Given the description of an element on the screen output the (x, y) to click on. 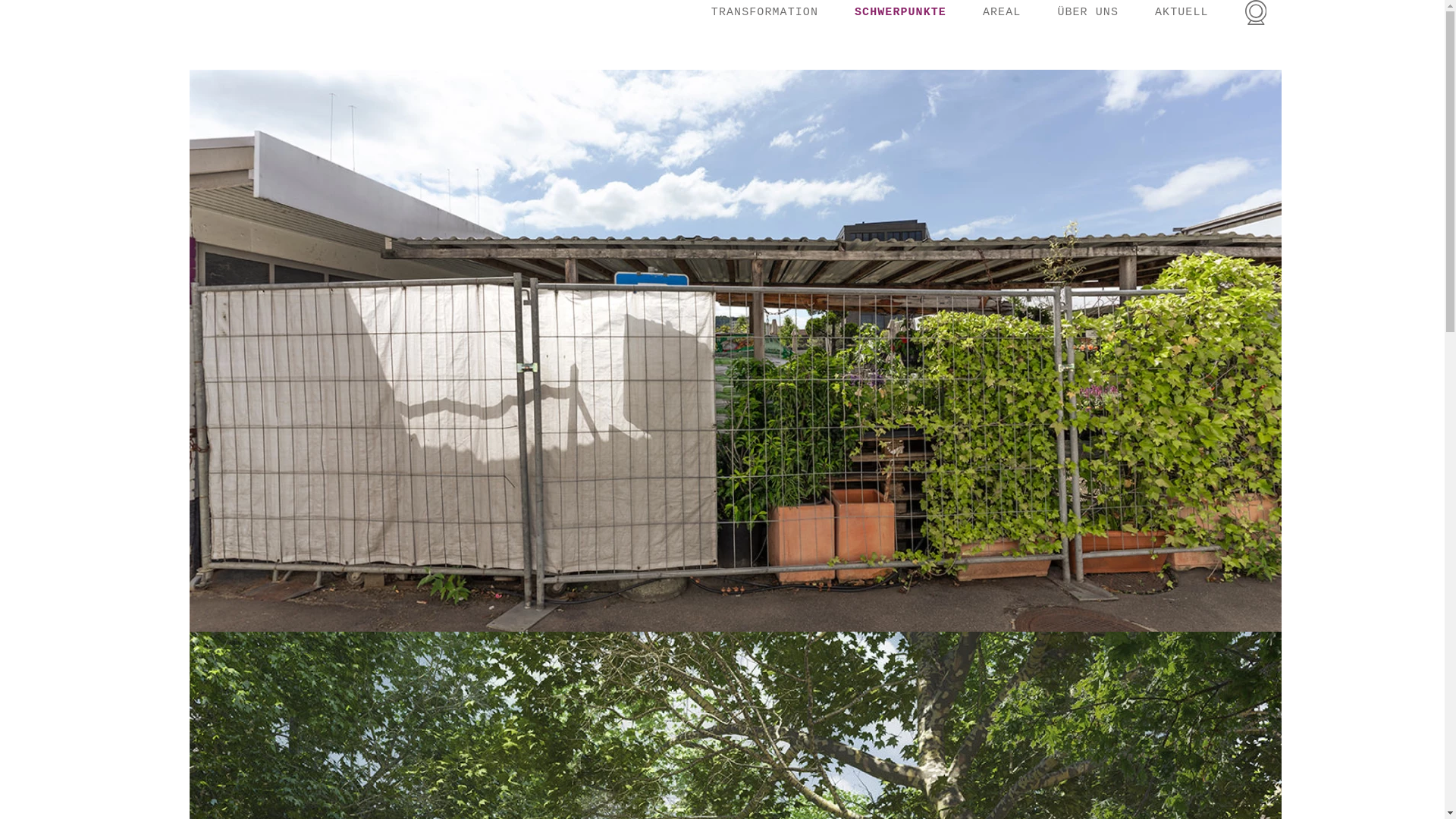
TRANSFORMATION Element type: text (764, 12)
AKTUELL Element type: text (1181, 12)
SCHWERPUNKTE Element type: text (900, 12)
AREAL Element type: text (1001, 12)
